Given the description of an element on the screen output the (x, y) to click on. 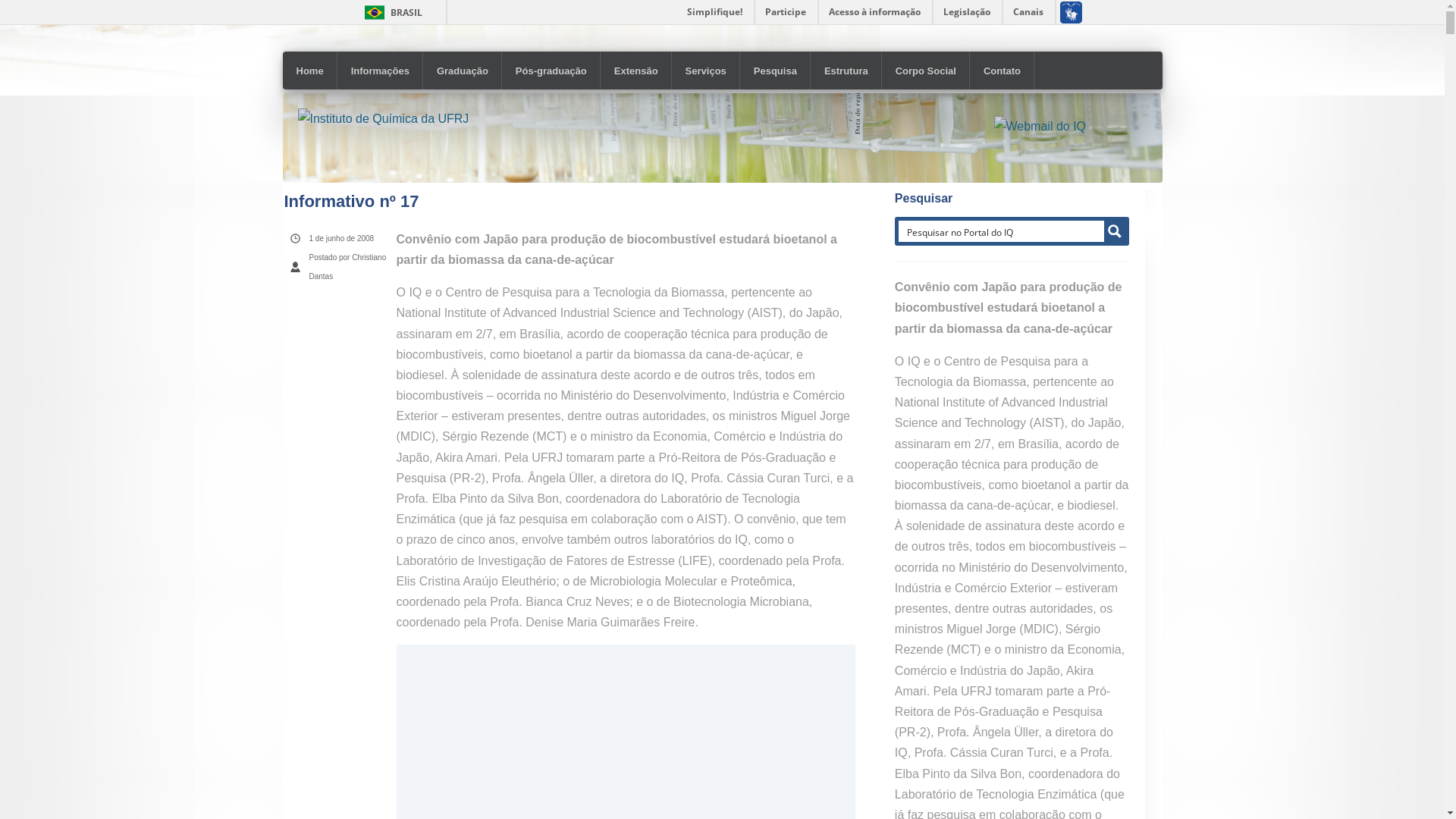
Estrutura Element type: text (845, 70)
Contato Element type: text (1001, 70)
Home Element type: text (309, 70)
Corpo Social Element type: text (925, 70)
BRASIL Element type: text (389, 12)
Pesquisa Element type: text (775, 70)
